Given the description of an element on the screen output the (x, y) to click on. 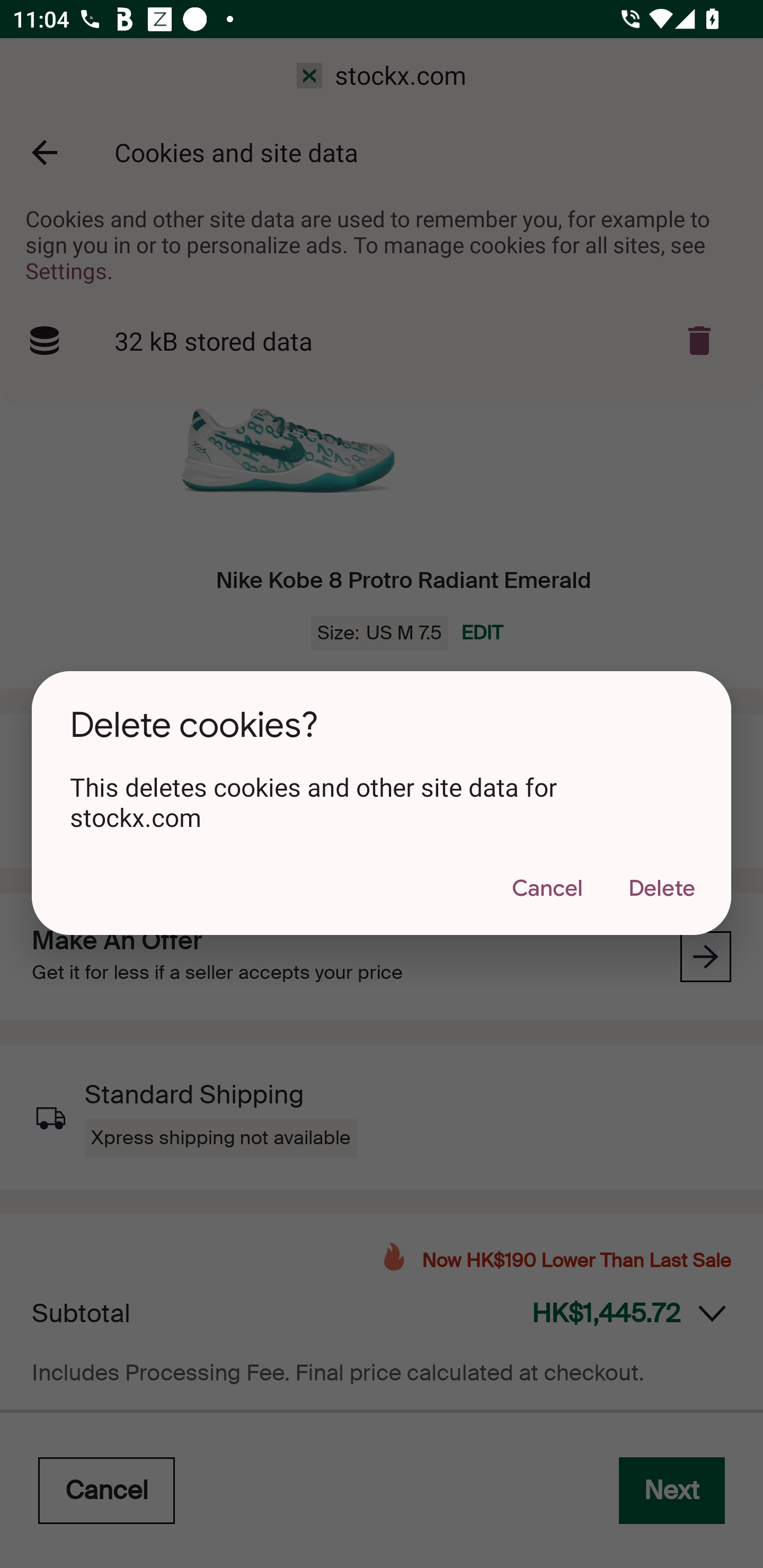
Cancel (546, 890)
Delete (660, 890)
